Given the description of an element on the screen output the (x, y) to click on. 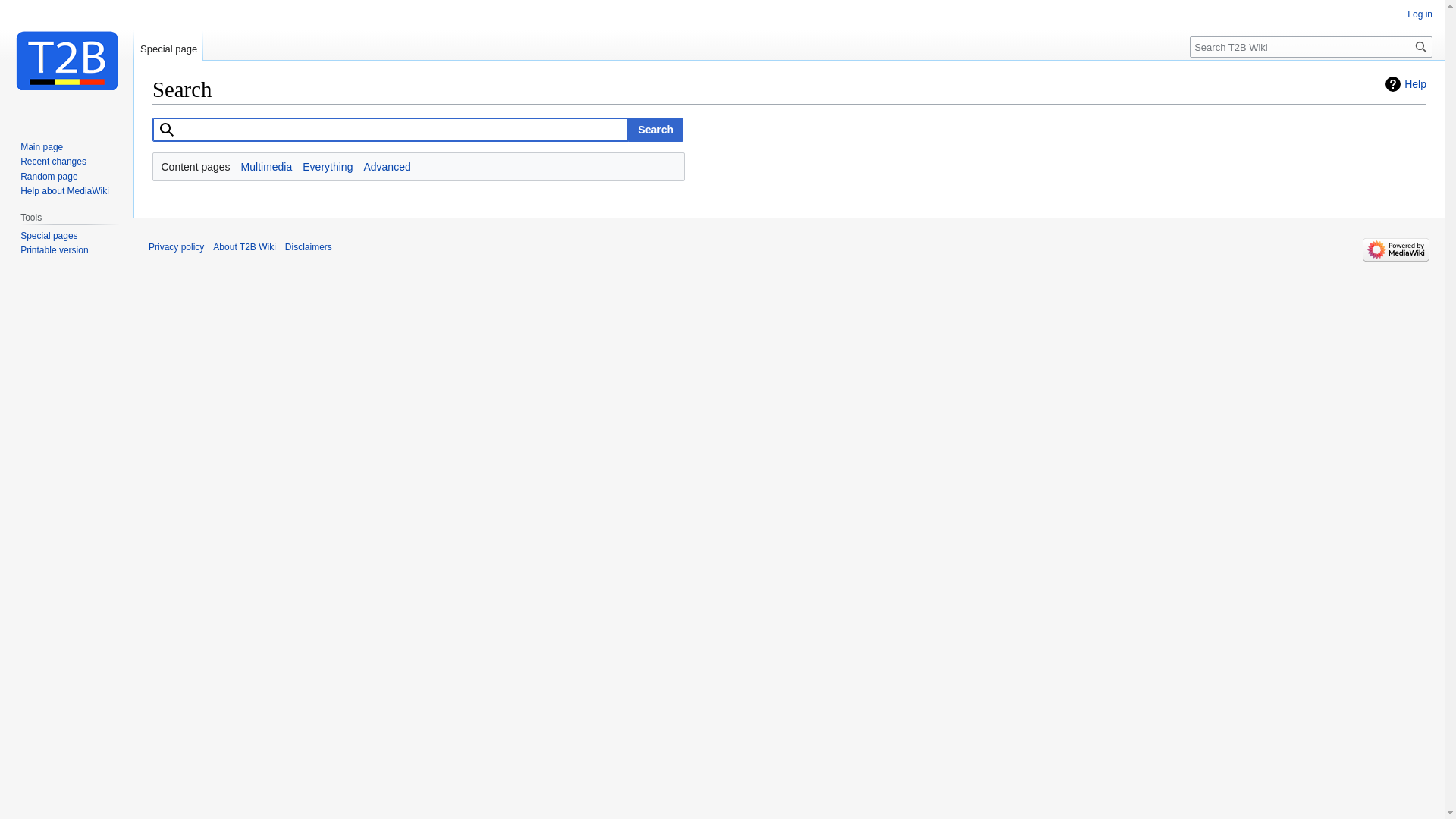
Main page Element type: text (41, 146)
Visit the main page Element type: hover (66, 60)
Search T2B Wiki [alt-shift-f] Element type: hover (1310, 46)
Search Element type: text (655, 129)
Jump to navigation Element type: text (151, 116)
Help about MediaWiki Element type: text (64, 190)
Help Element type: text (1405, 83)
Special page Element type: text (168, 45)
Search T2B Wiki Element type: hover (390, 129)
Go Element type: text (1420, 46)
Everything Element type: text (327, 166)
Special pages Element type: text (48, 235)
Log in Element type: text (1419, 14)
Multimedia Element type: text (266, 166)
Random page Element type: text (48, 176)
Go to a page with this exact name if it exists Element type: hover (1420, 46)
Privacy policy Element type: text (175, 246)
Printable version Element type: text (53, 249)
Recent changes Element type: text (53, 161)
About T2B Wiki Element type: text (244, 246)
Advanced Element type: text (386, 166)
Content pages Element type: text (195, 166)
Disclaimers Element type: text (308, 246)
